Given the description of an element on the screen output the (x, y) to click on. 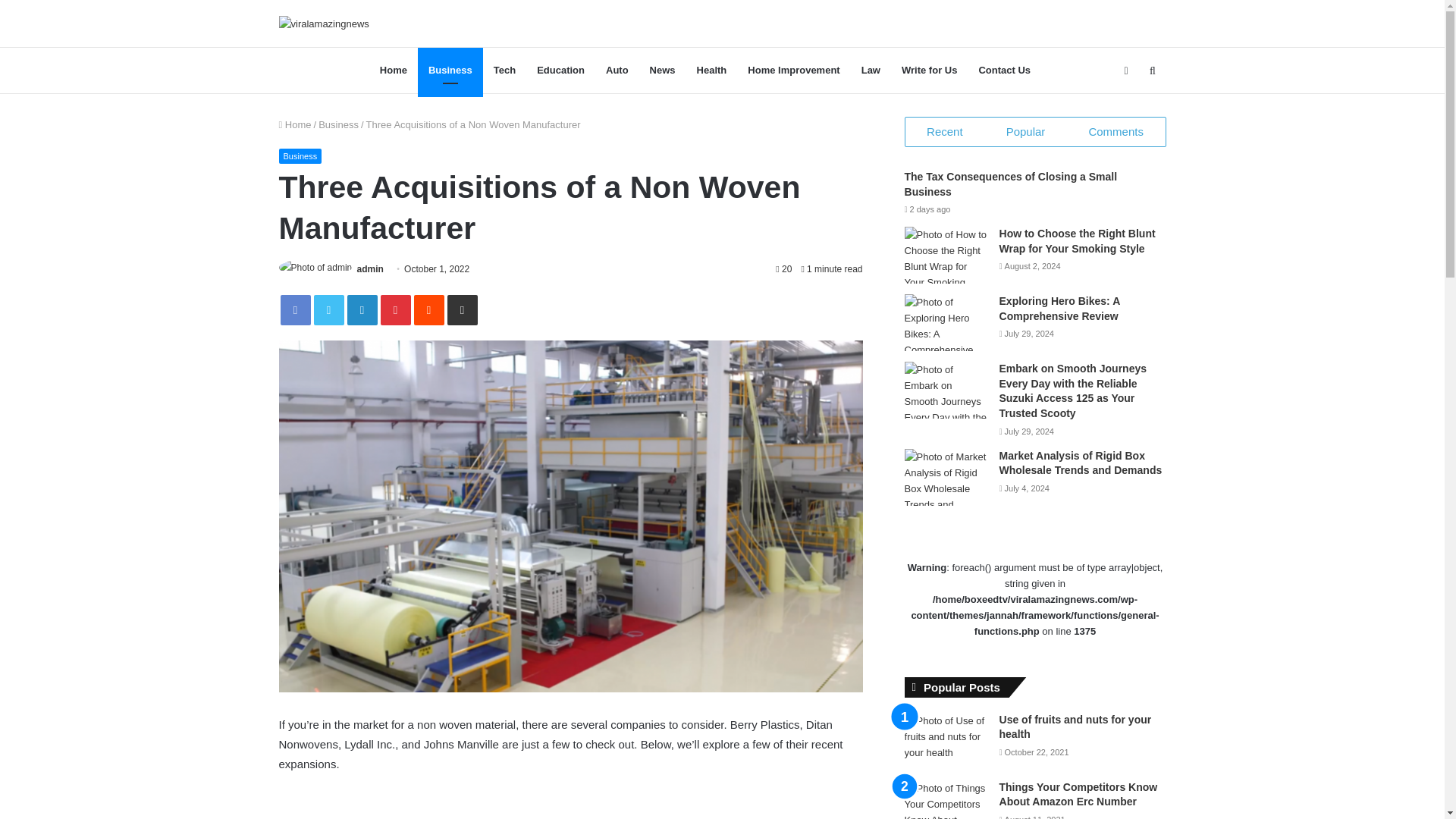
Home (393, 70)
Home Improvement (793, 70)
Facebook (296, 309)
Auto (617, 70)
Write for Us (929, 70)
viralamazingnews (324, 70)
Share via Email (461, 309)
Education (560, 70)
Contact Us (1004, 70)
Business (300, 155)
